Given the description of an element on the screen output the (x, y) to click on. 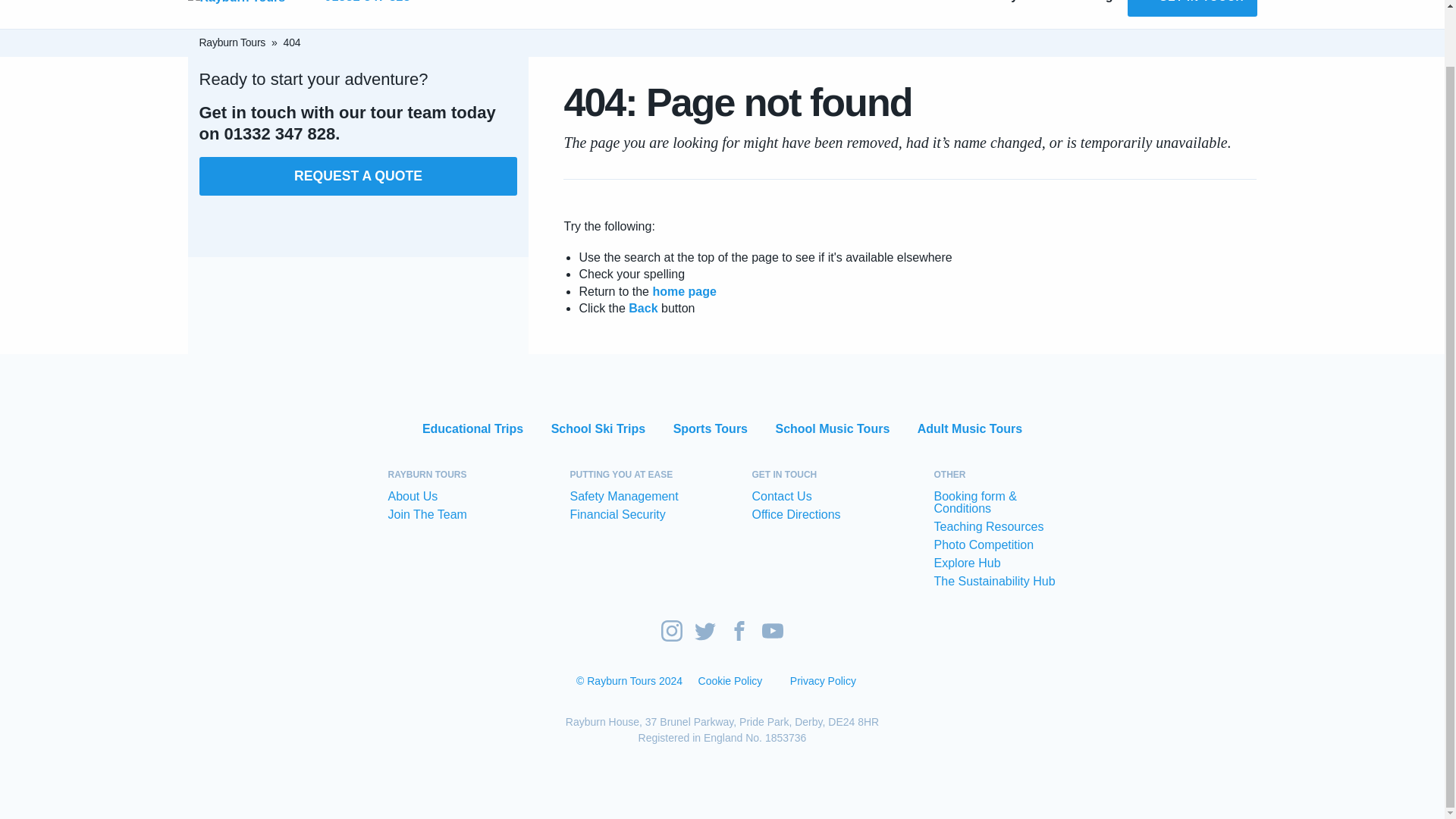
REQUEST A QUOTE (357, 176)
Safety (358, 4)
About Us (993, 13)
YouTube (936, 13)
Facebook (772, 630)
Educational Trips (738, 632)
Careers (472, 428)
Rayburn Tours (1045, 13)
Rayburn Tours (231, 42)
Blog (236, 13)
home page (1093, 13)
GET IN TOUCH (684, 291)
Back (1191, 8)
Instagram (643, 308)
